Given the description of an element on the screen output the (x, y) to click on. 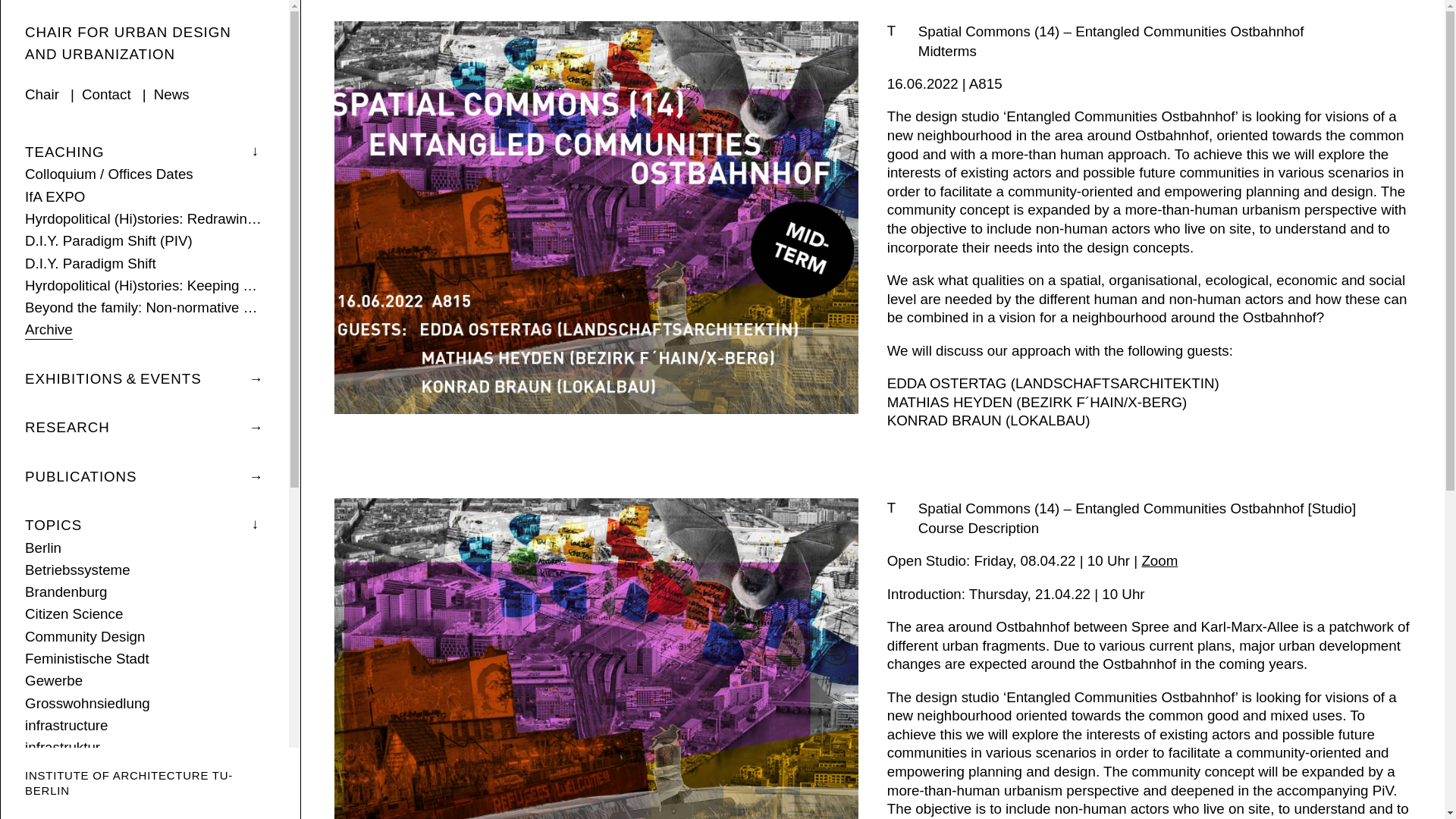
CHAIR FOR URBAN DESIGN AND URBANIZATION (127, 43)
News (171, 95)
D.I.Y. Paradigm Shift (89, 264)
IfA EXPO (54, 198)
Archive (48, 330)
Chair (41, 95)
Beyond the family: Non-normative housing practices (143, 308)
Contact (106, 95)
